Given the description of an element on the screen output the (x, y) to click on. 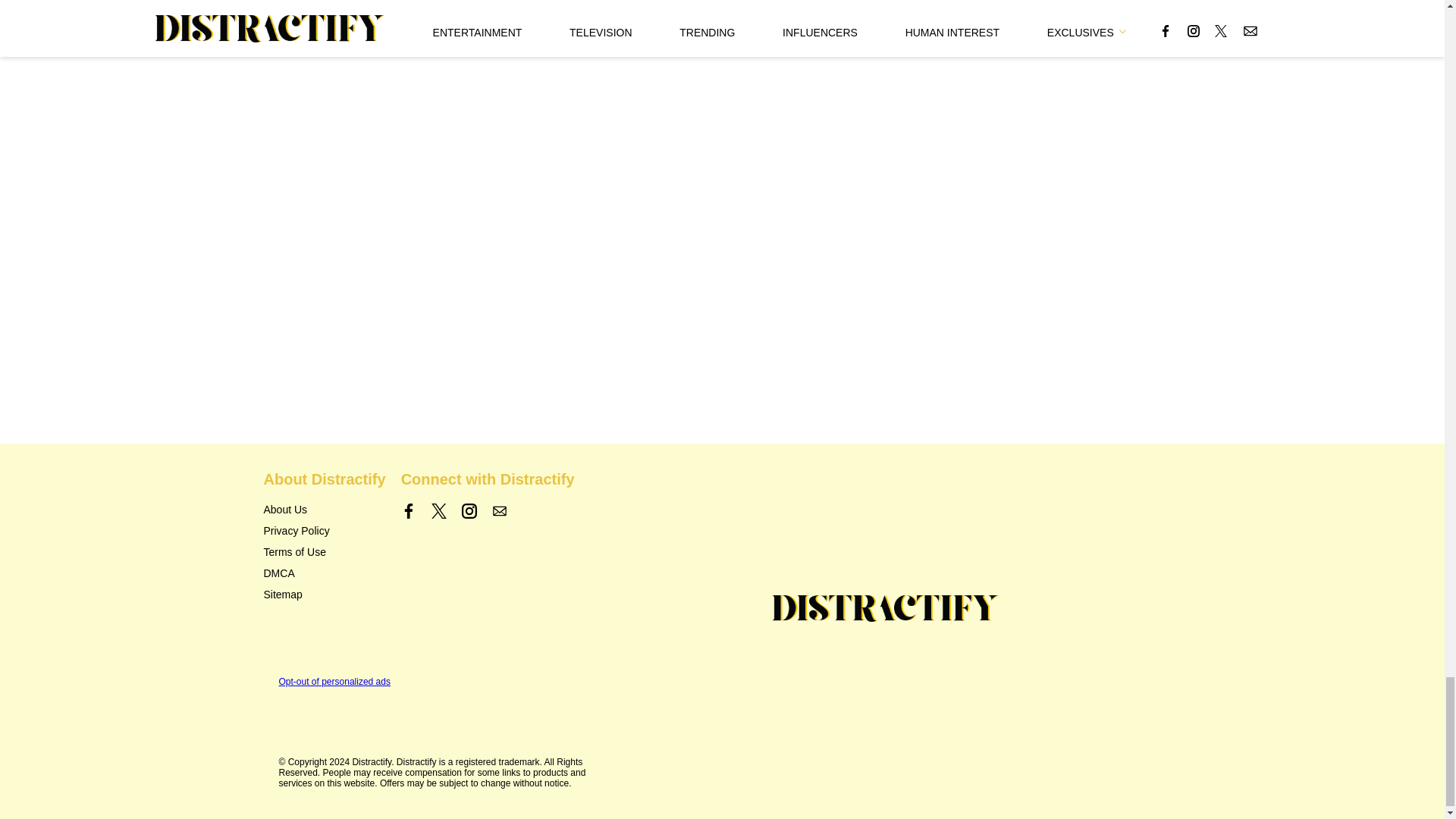
Privacy Policy (296, 530)
DMCA (279, 573)
Sitemap (282, 594)
Link to X (438, 510)
Sitemap (282, 594)
Terms of Use (294, 551)
Terms of Use (294, 551)
Contact us by Email (499, 510)
Link to X (438, 514)
Link to Facebook (408, 510)
